Given the description of an element on the screen output the (x, y) to click on. 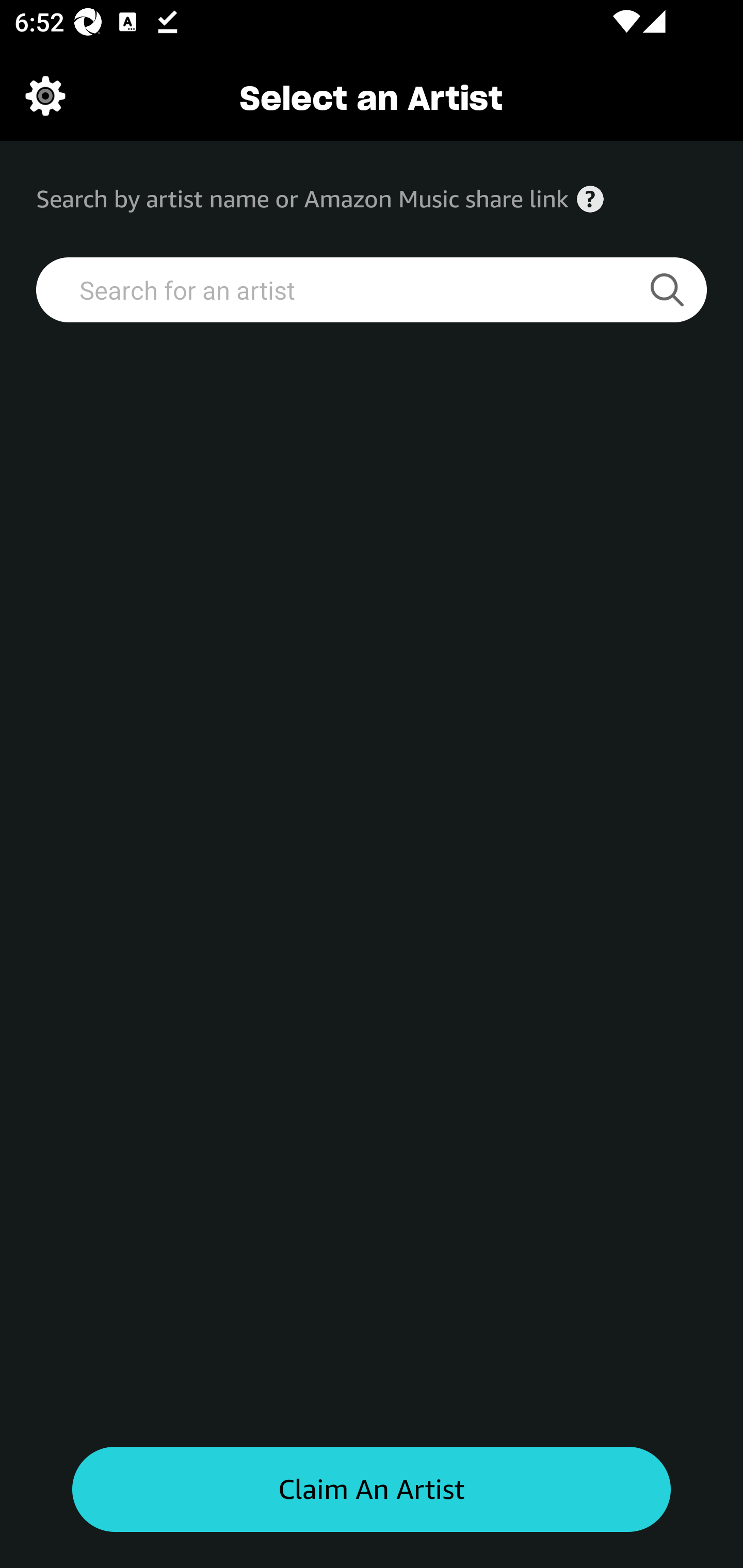
Help  icon (589, 199)
Claim an artist button Claim An Artist (371, 1489)
